Given the description of an element on the screen output the (x, y) to click on. 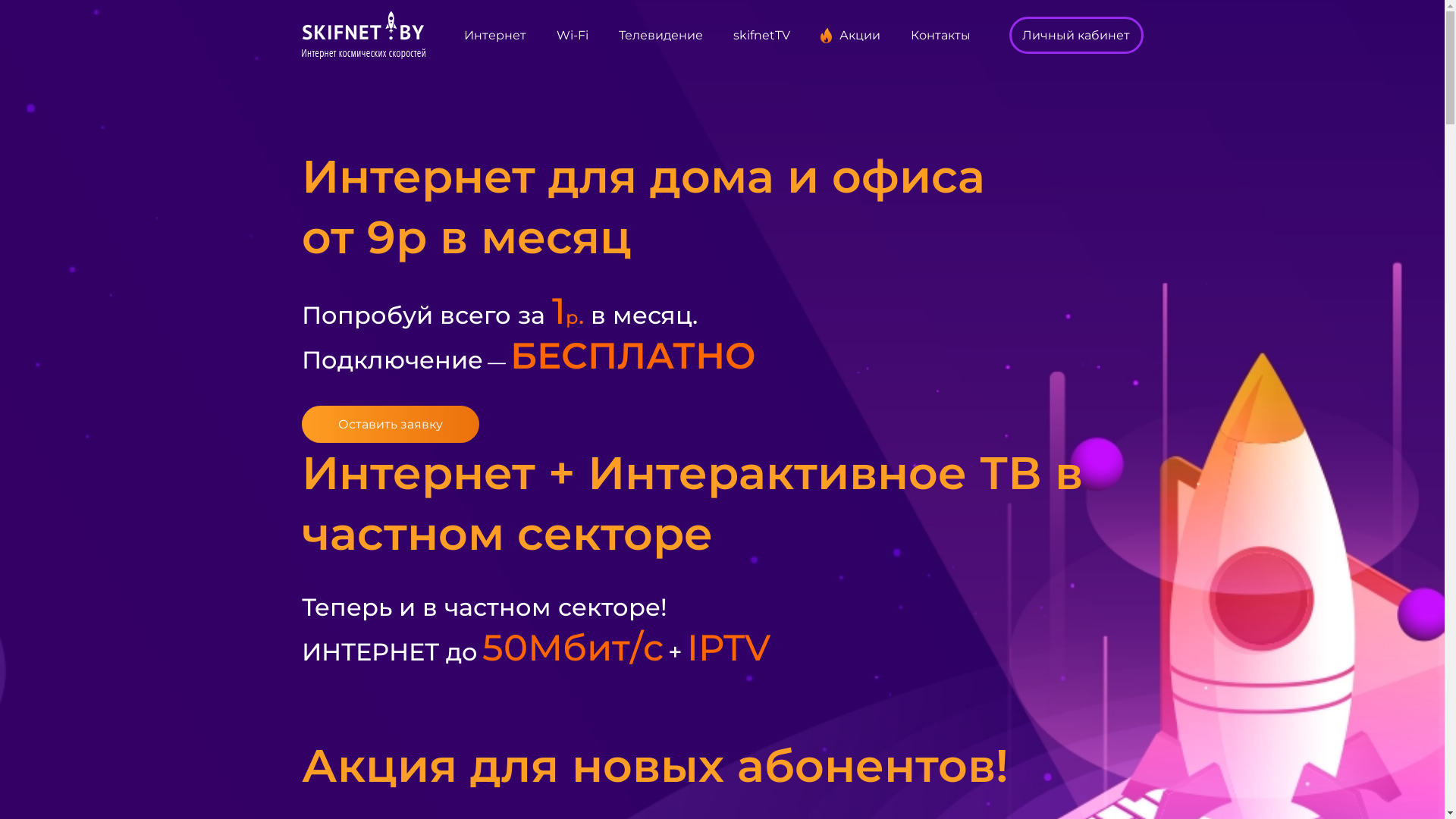
Wi-Fi Element type: text (572, 35)
skifnetTV Element type: text (761, 35)
